Given the description of an element on the screen output the (x, y) to click on. 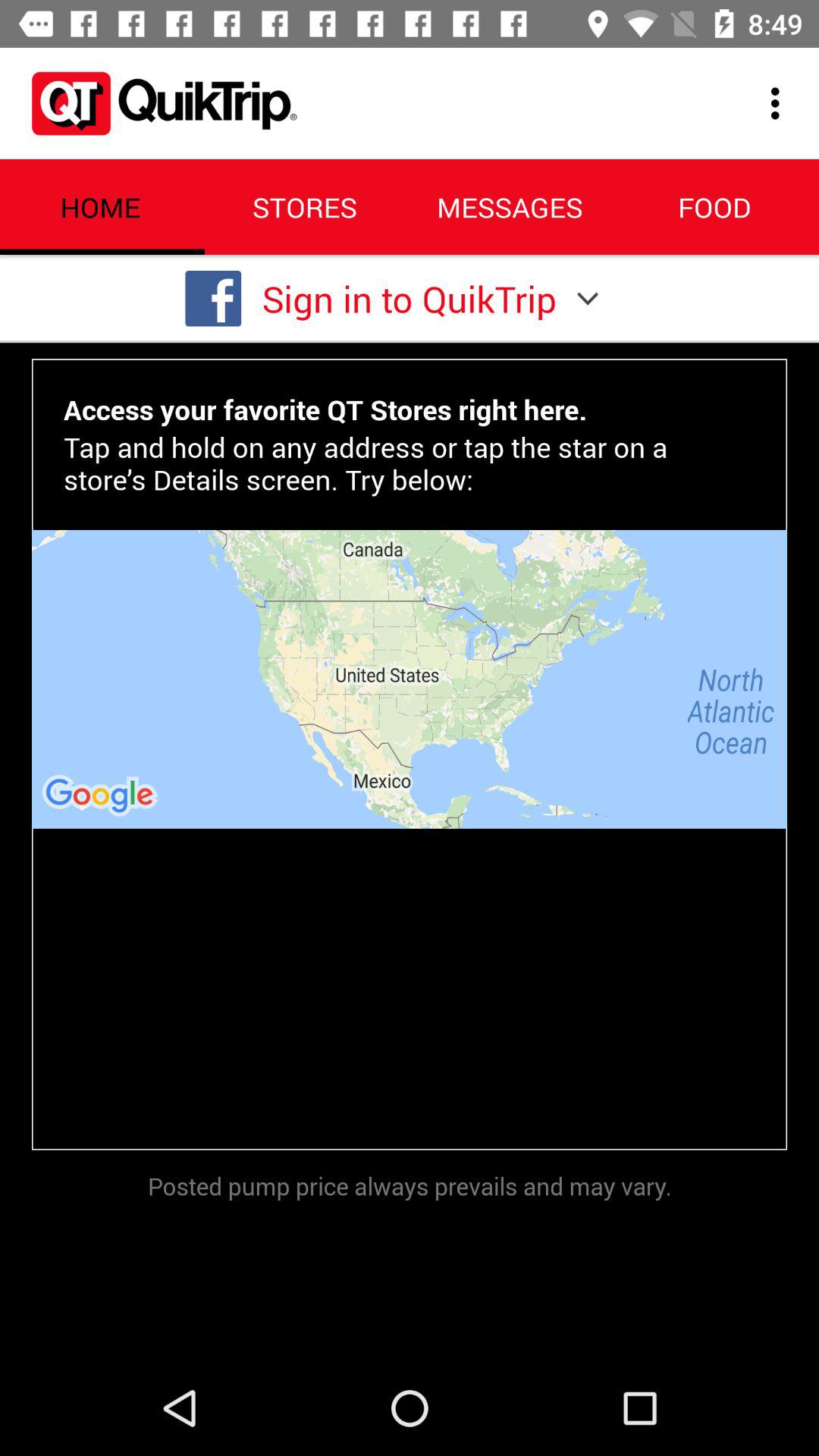
click the icon at the center (409, 679)
